Given the description of an element on the screen output the (x, y) to click on. 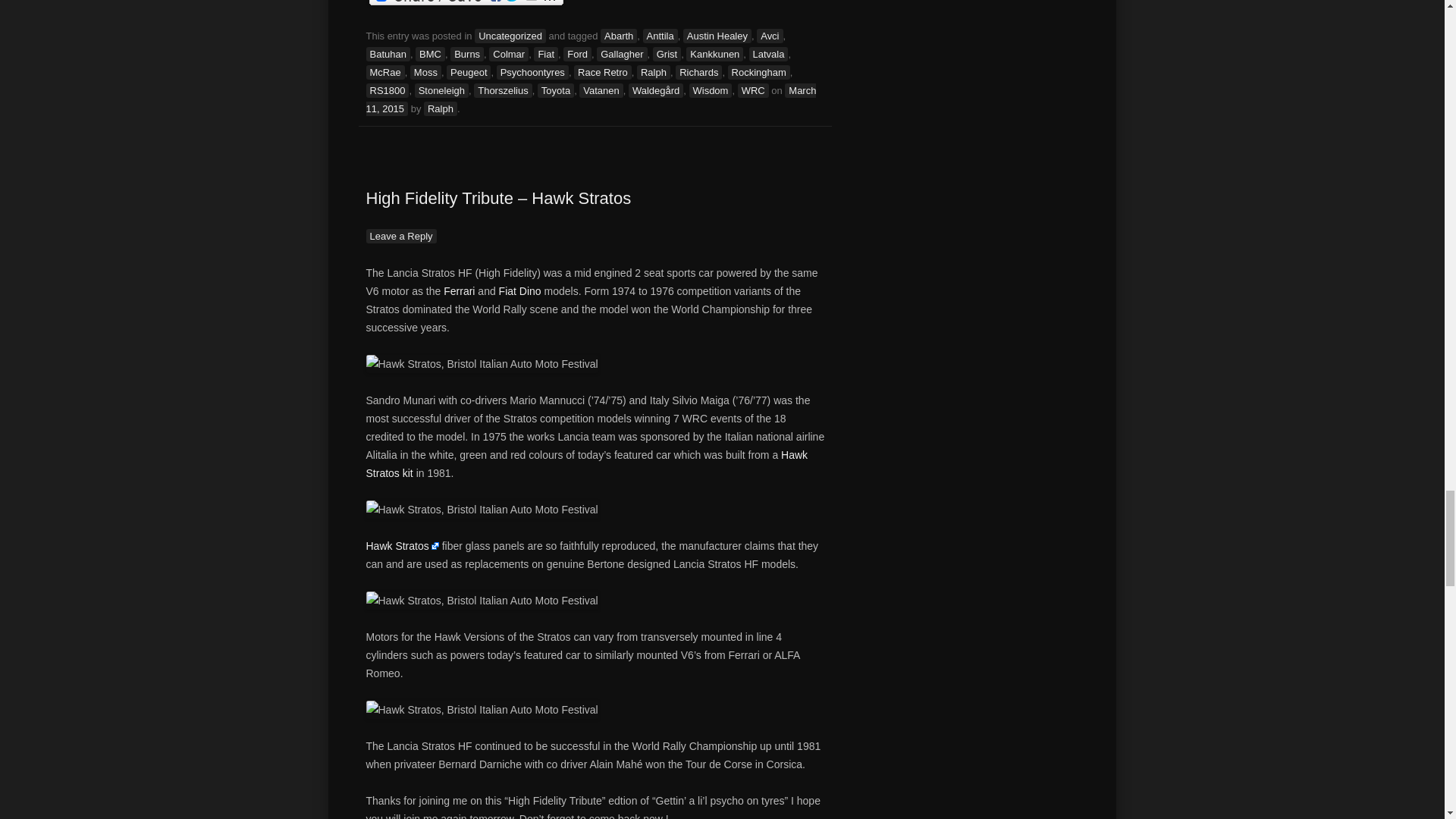
12:01 am (590, 99)
Abarth (618, 35)
Anttila (660, 35)
Uncategorized (510, 35)
View all posts by Ralph (440, 108)
